Given the description of an element on the screen output the (x, y) to click on. 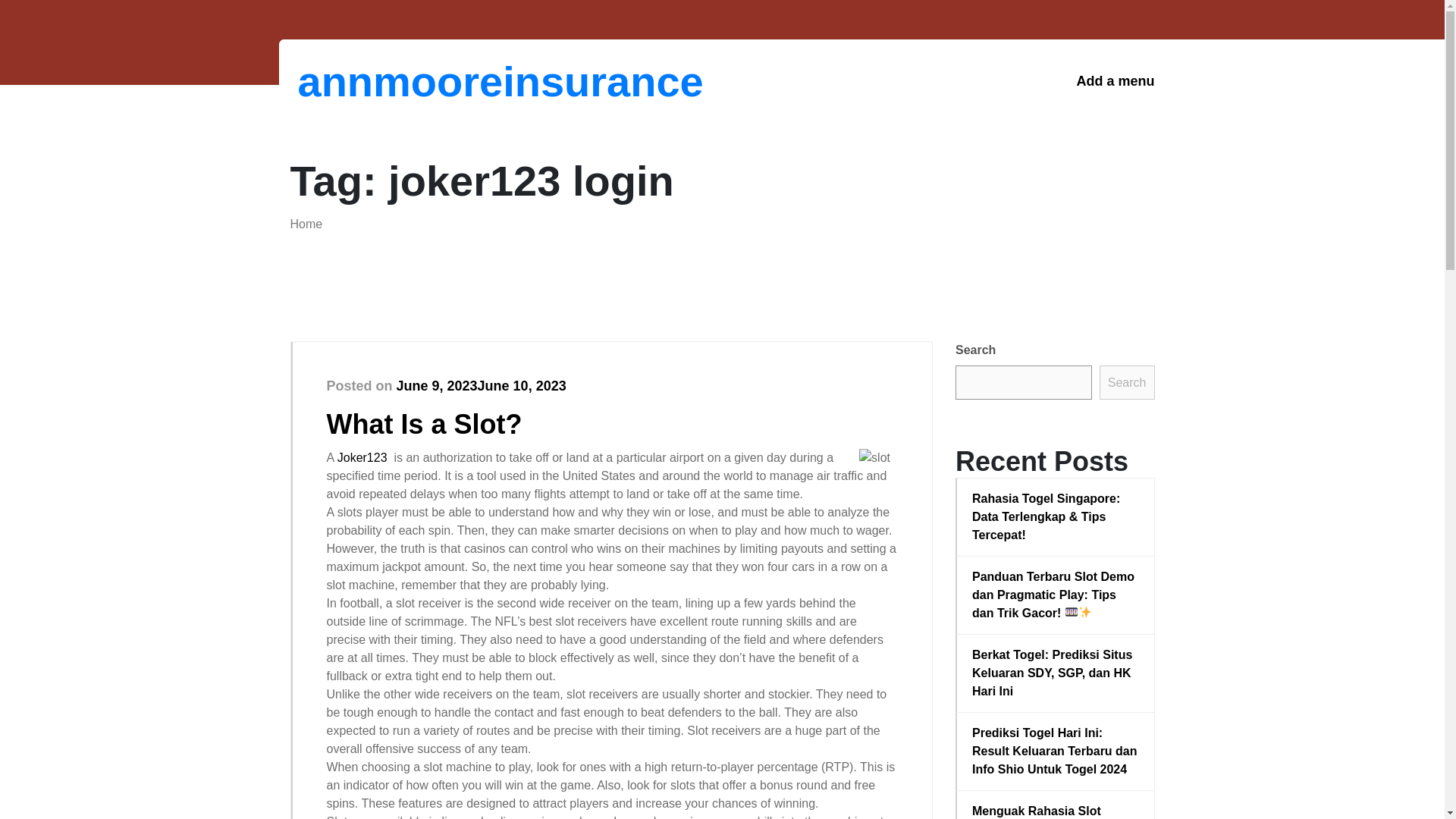
Home (305, 223)
Joker123 (362, 457)
Add a menu (1114, 81)
Search (1126, 382)
June 9, 2023June 10, 2023 (481, 385)
What Is a Slot? (423, 423)
annmooreinsurance (376, 81)
